Given the description of an element on the screen output the (x, y) to click on. 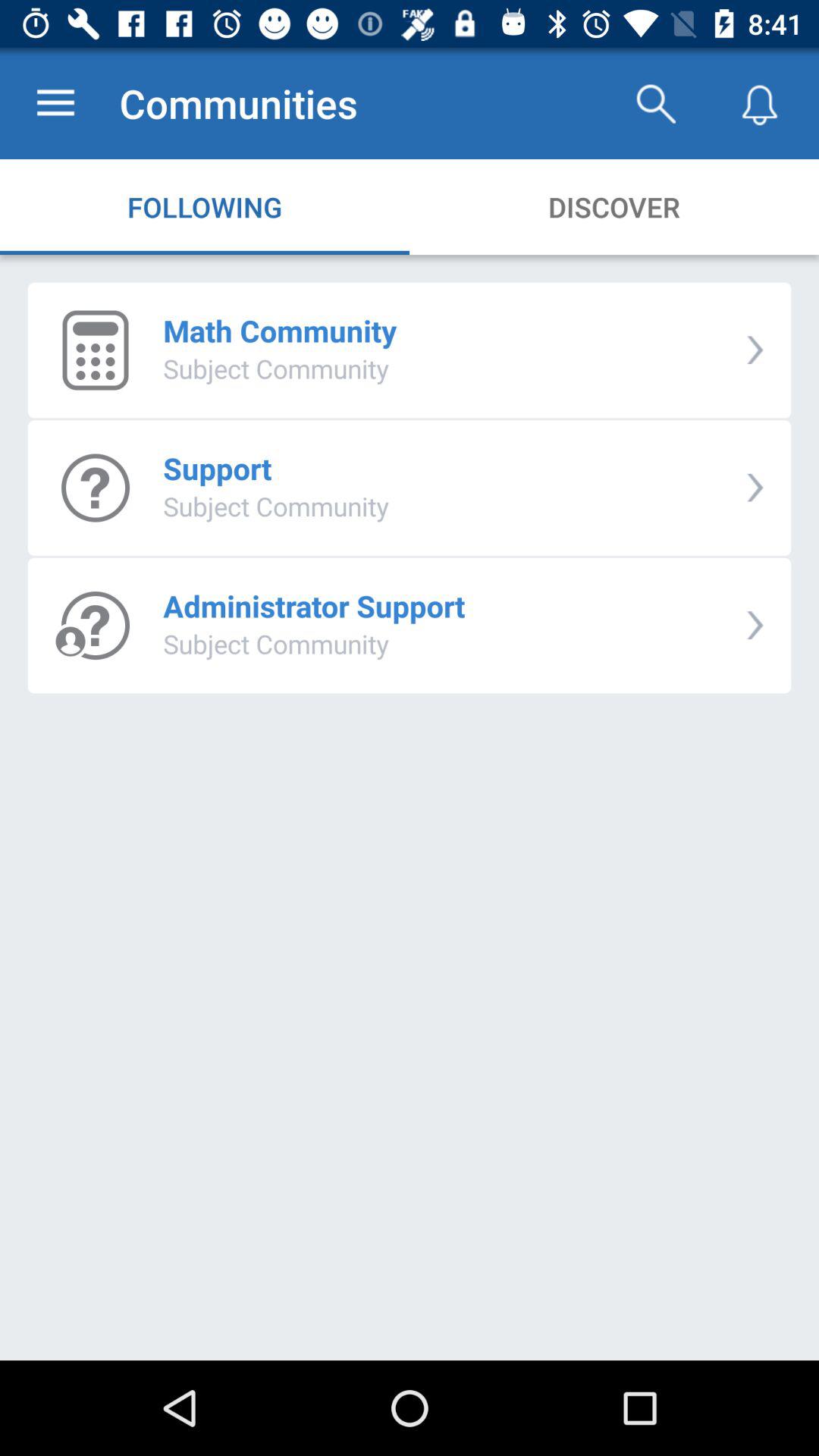
turn on the item next to the subject community icon (755, 487)
